Given the description of an element on the screen output the (x, y) to click on. 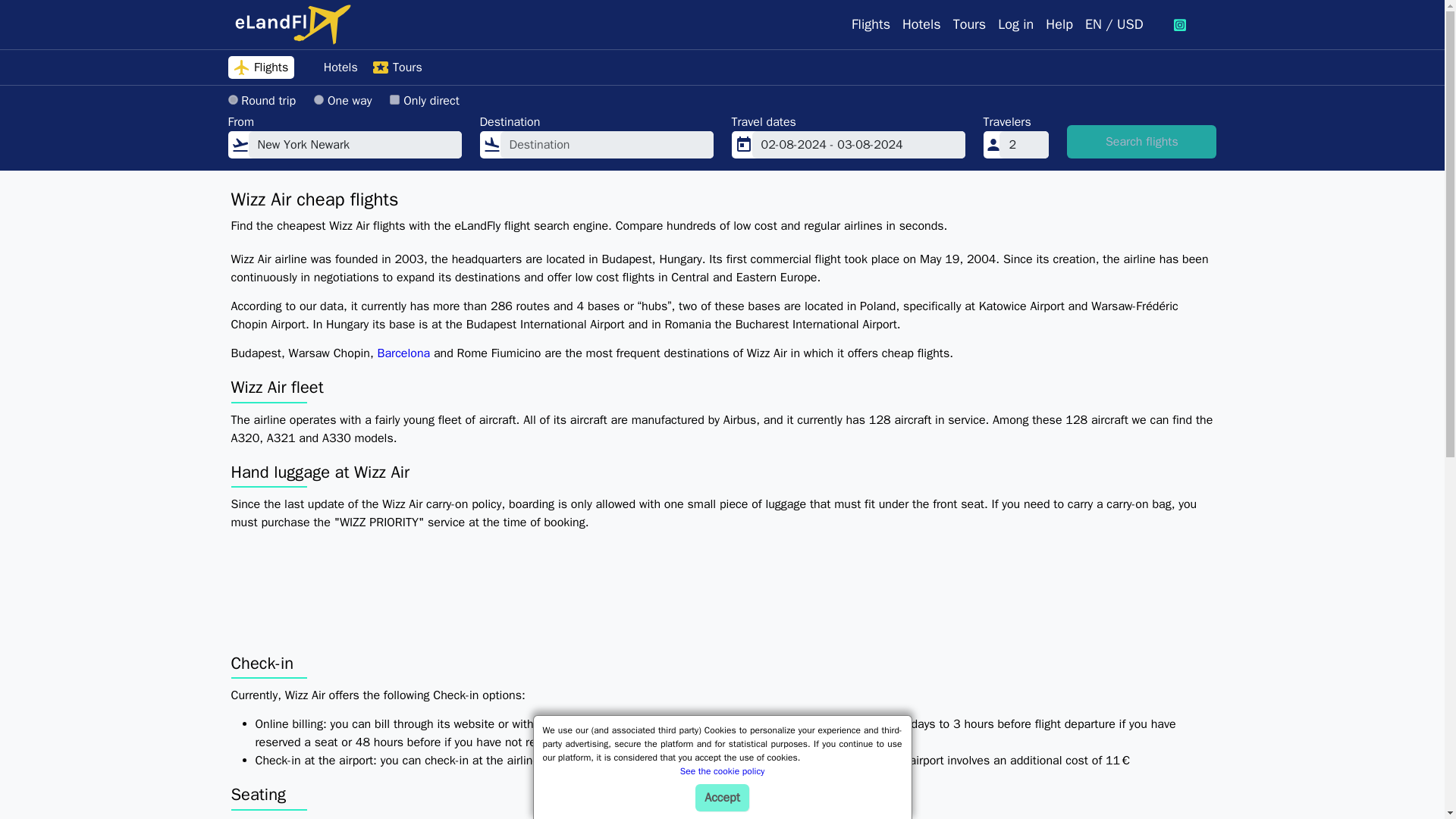
Barcelona (403, 353)
oneway (318, 99)
Tours (397, 67)
Flights (260, 67)
Search flights (1141, 141)
eLandFly (291, 24)
returnway (232, 99)
Flights (870, 24)
2 (1023, 144)
Hotels (329, 67)
02-08-2024 - 03-08-2024 (858, 144)
Log in (1015, 24)
New York Newark (354, 144)
1 (394, 99)
Tours (969, 24)
